Given the description of an element on the screen output the (x, y) to click on. 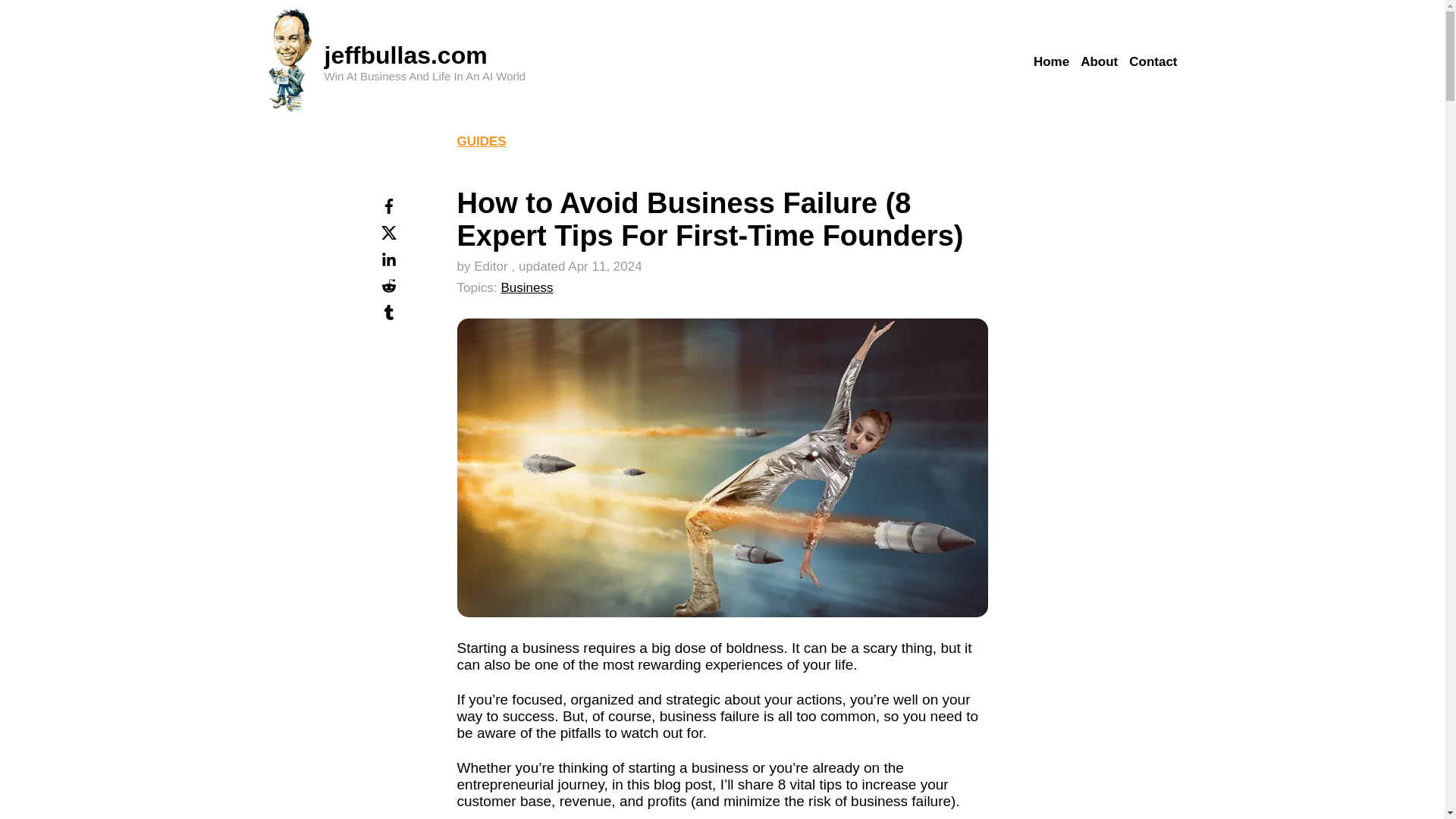
Contact (1152, 61)
GUIDES (481, 141)
jeffbullas.com (405, 53)
Business (526, 287)
About (1099, 61)
Home (1050, 61)
